Given the description of an element on the screen output the (x, y) to click on. 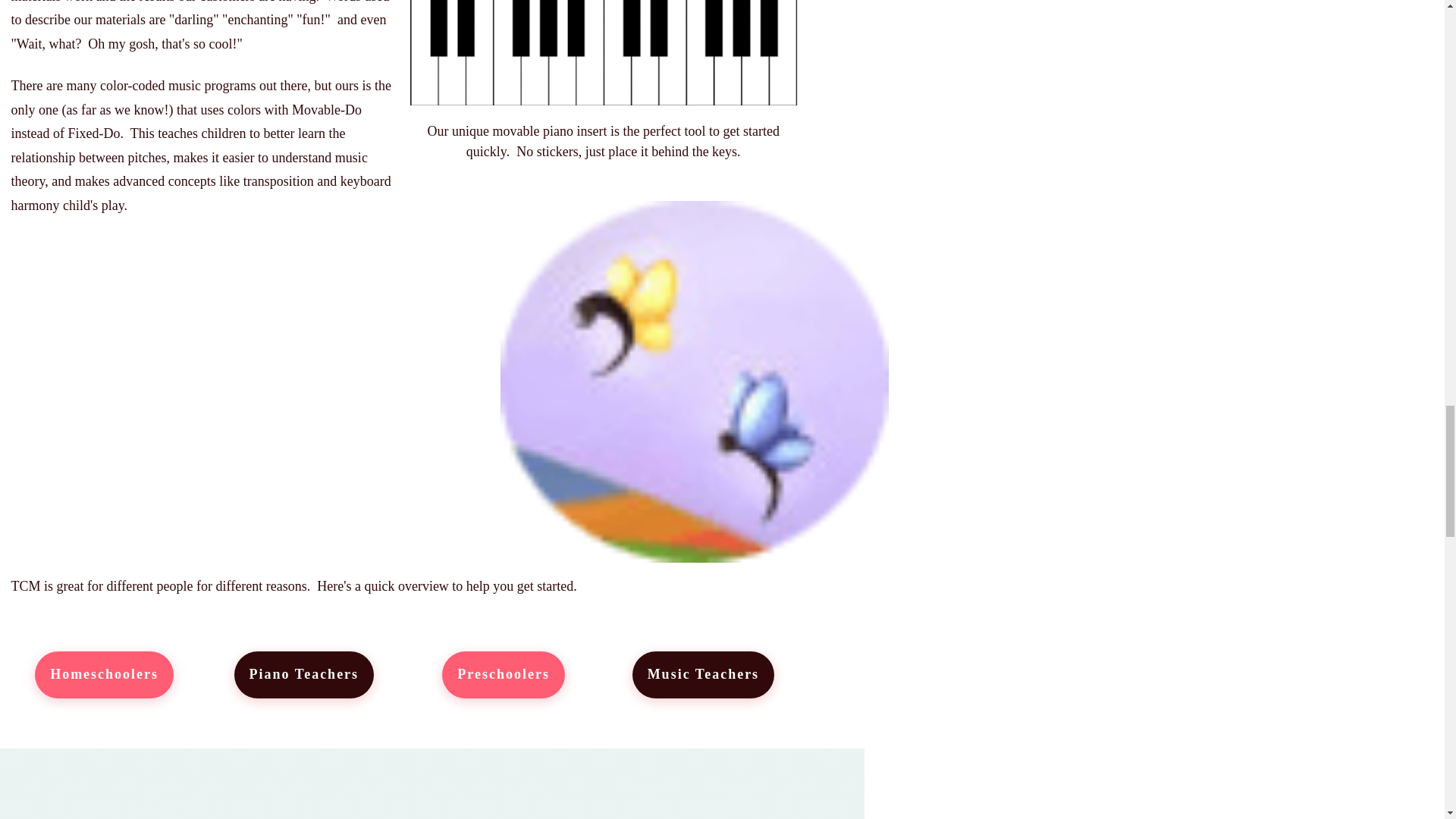
Music Teachers (702, 674)
Homeschoolers (103, 674)
Piano Teachers (304, 674)
piano insert (603, 53)
Preschoolers (503, 674)
